Given the description of an element on the screen output the (x, y) to click on. 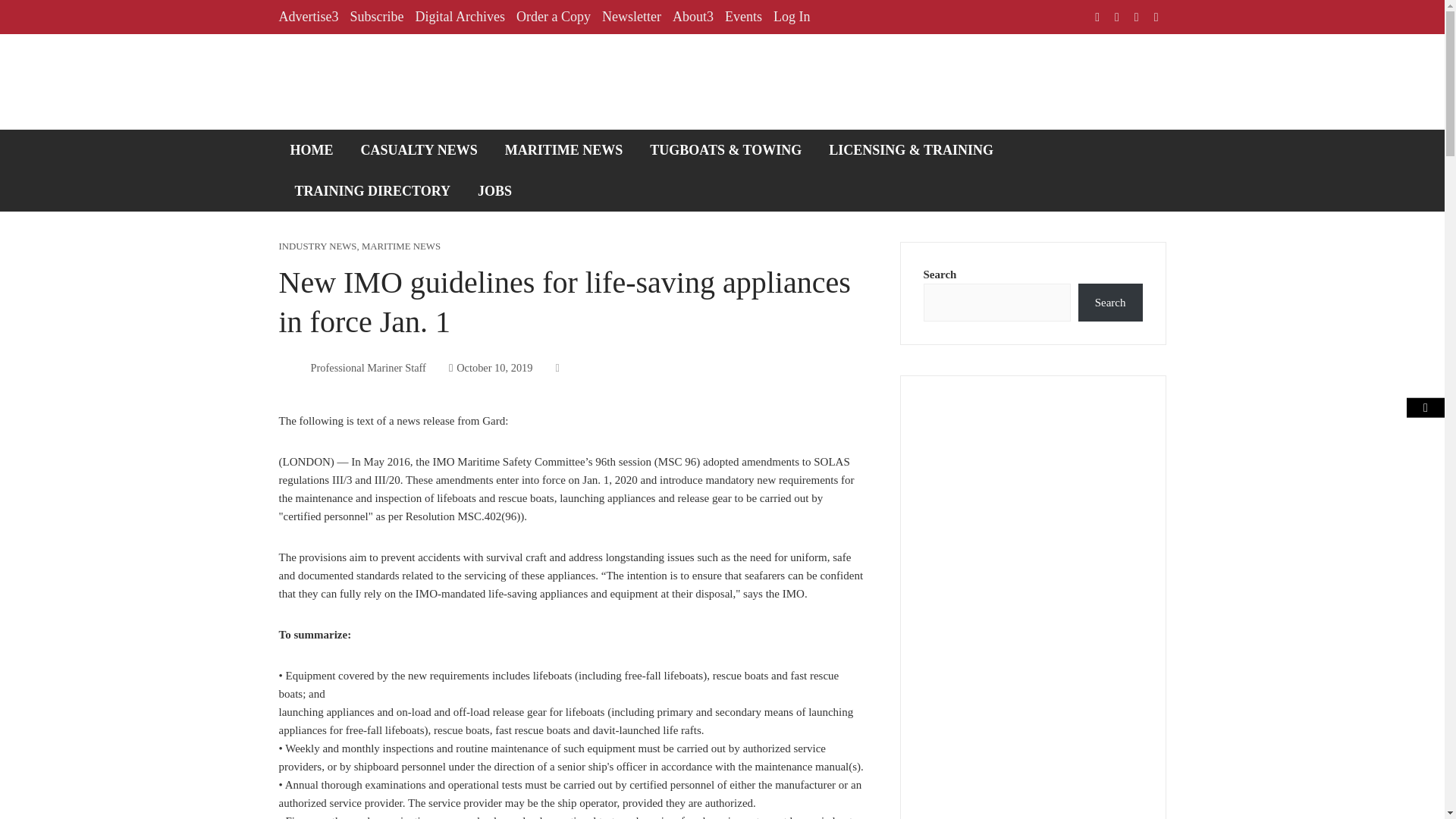
MARITIME NEWS (401, 246)
About (692, 17)
MARITIME NEWS (563, 149)
Order a Copy (553, 17)
CASUALTY NEWS (418, 149)
Subscribe (376, 17)
HOME (312, 149)
Newsletter (631, 17)
TRAINING DIRECTORY (373, 190)
Log In (791, 17)
